Given the description of an element on the screen output the (x, y) to click on. 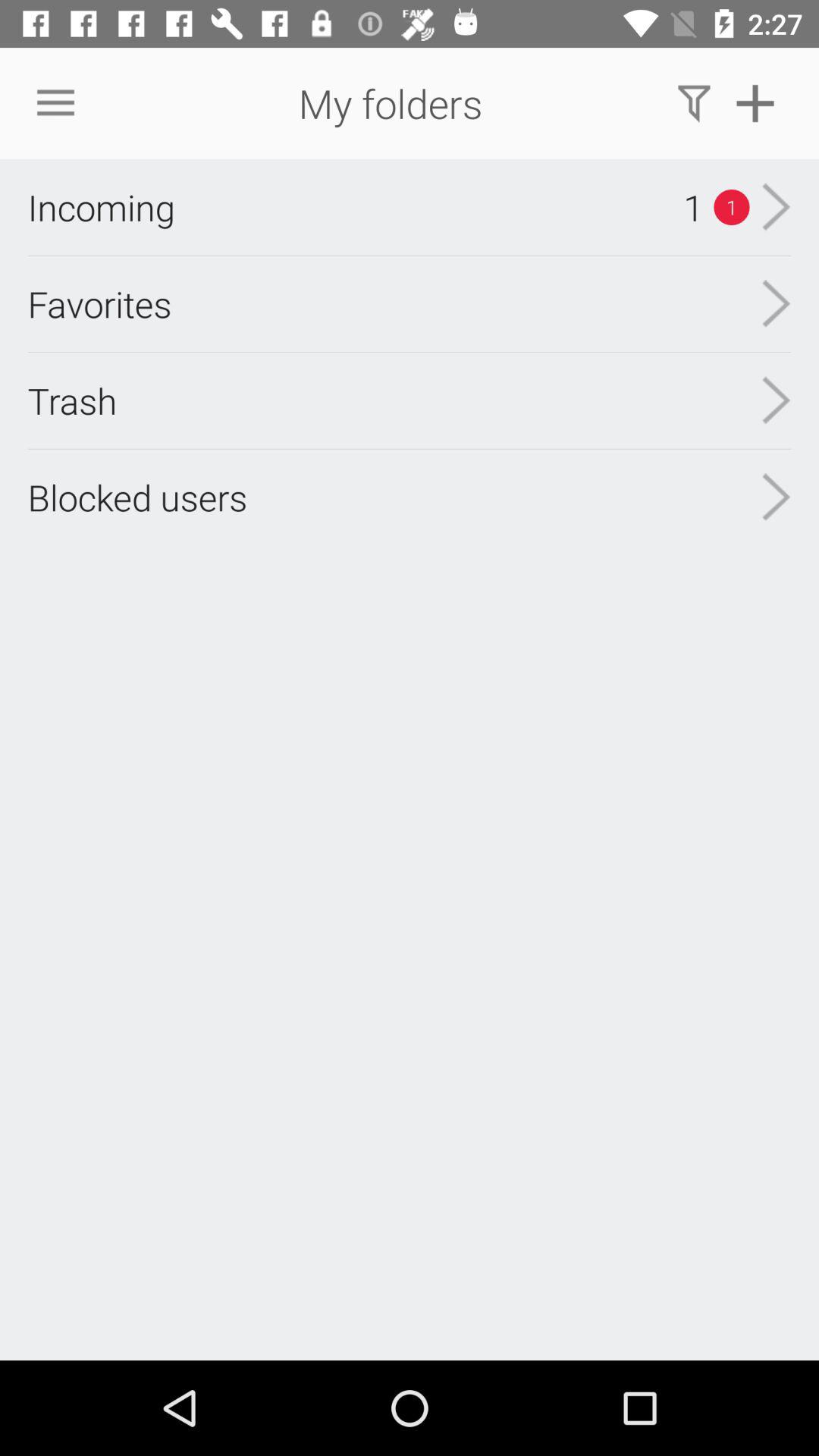
press the item to the right of the 1 icon (776, 207)
